Given the description of an element on the screen output the (x, y) to click on. 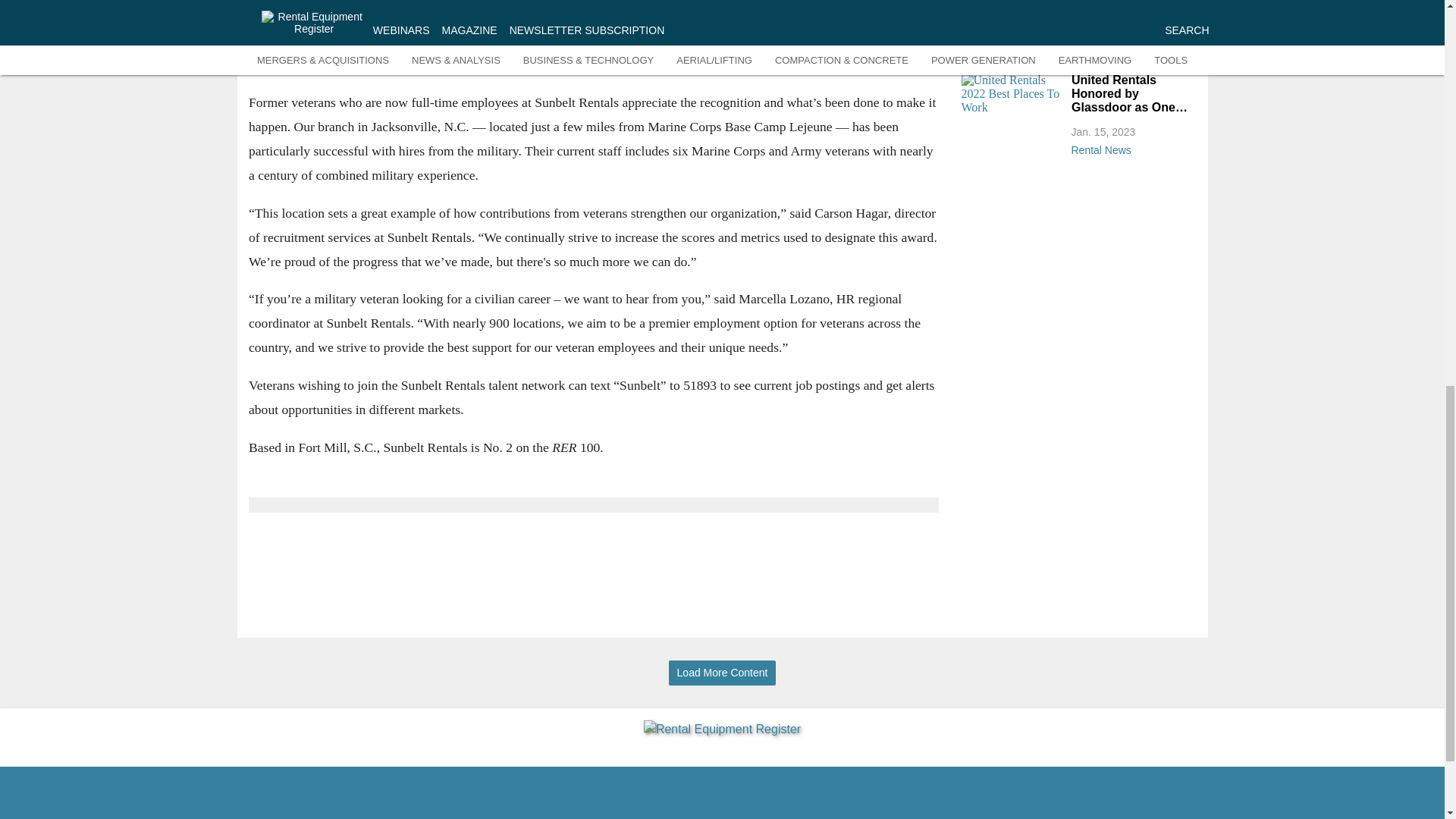
Asv Rt 50 Downhill (1012, 17)
United Rentals 2022 Best Places To Work (1012, 101)
Load More Content (722, 672)
Rental News (1129, 147)
Rental News (1129, 51)
